Given the description of an element on the screen output the (x, y) to click on. 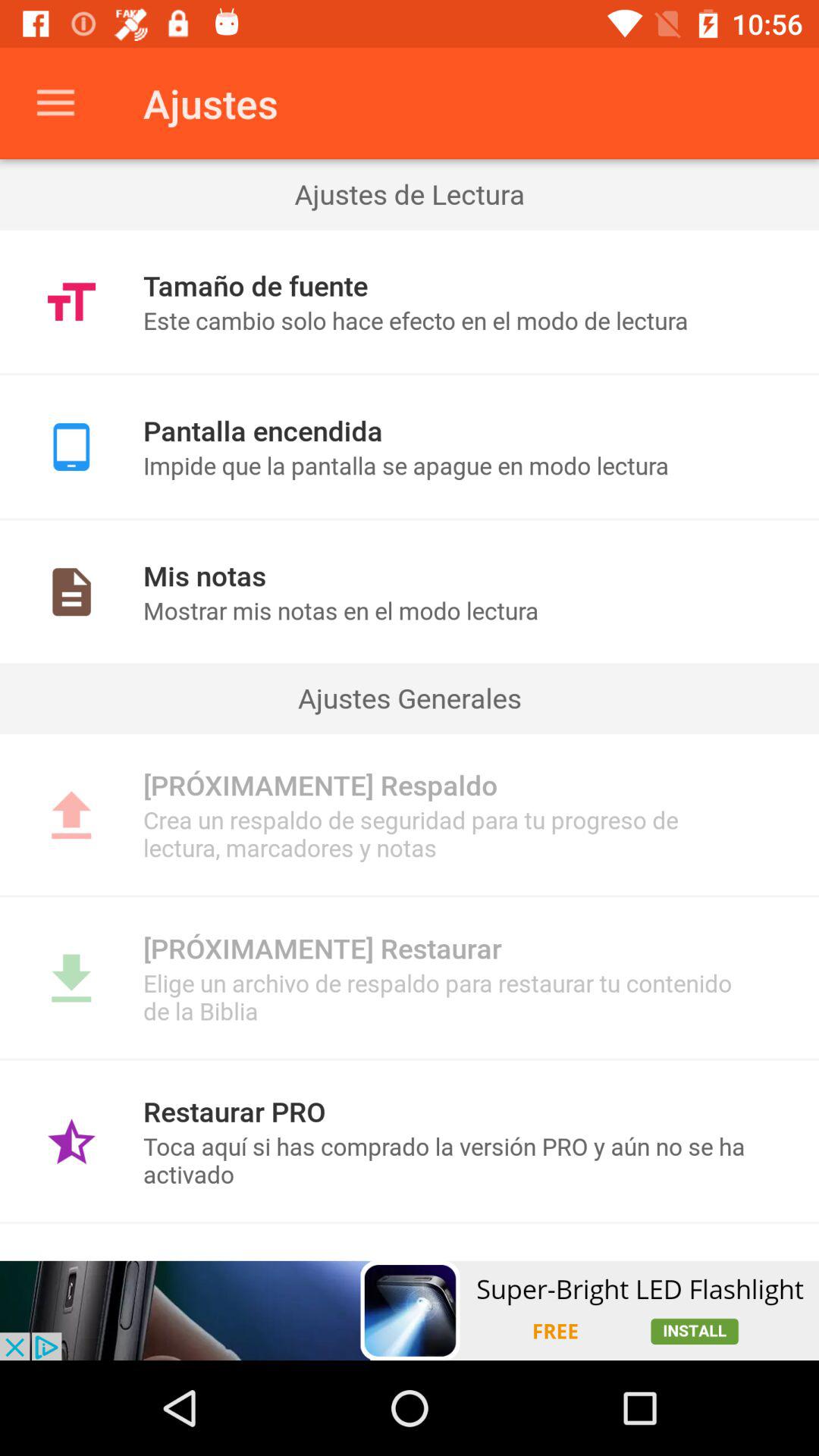
jump until restaurar pro (234, 1111)
